Given the description of an element on the screen output the (x, y) to click on. 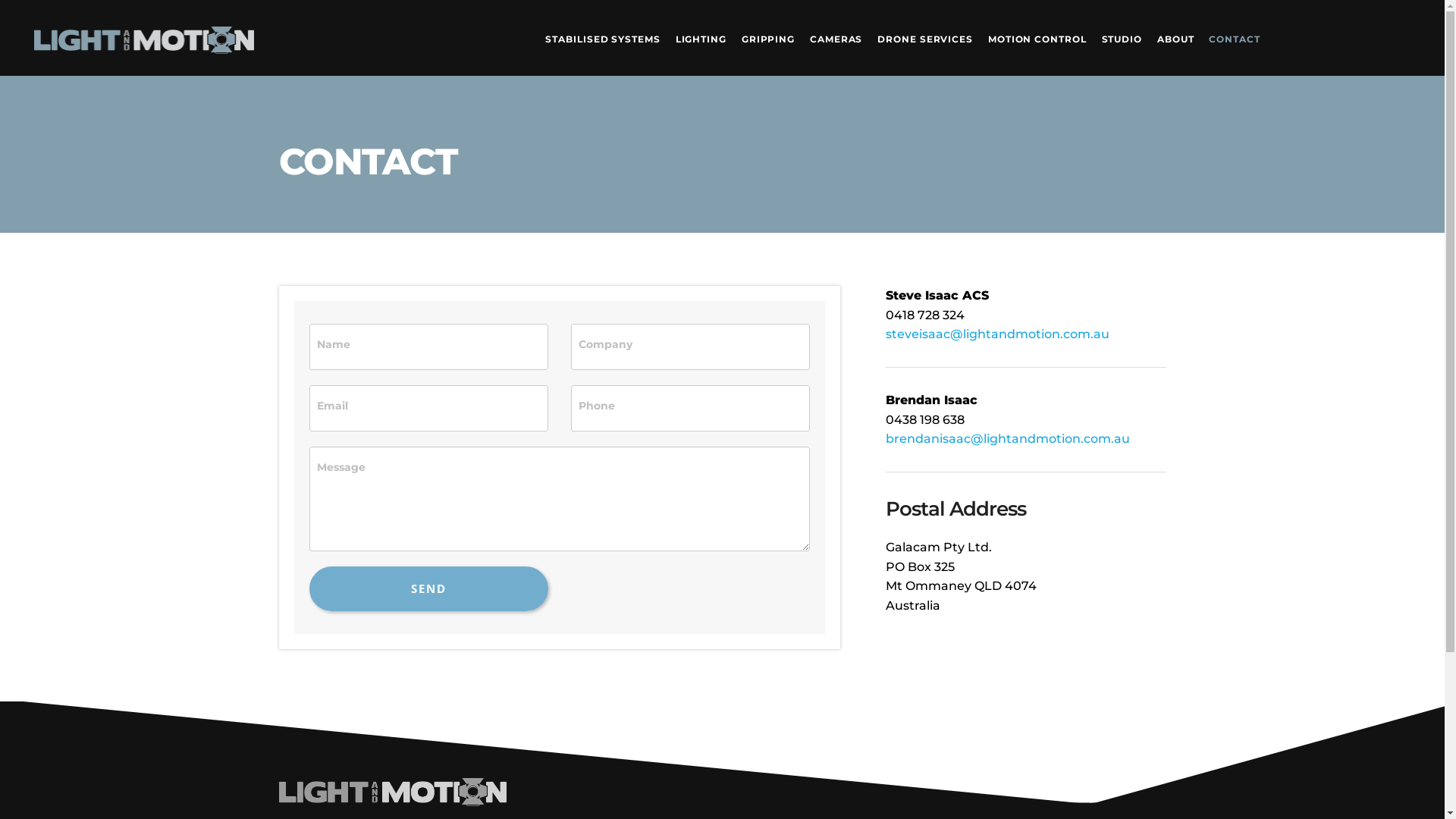
ABOUT Element type: text (1175, 37)
DRONE SERVICES Element type: text (924, 37)
brendanisaac@lightandmotion.com.au Element type: text (1007, 438)
GRIPPING Element type: text (768, 37)
STUDIO Element type: text (1121, 37)
CONTACT Element type: text (1230, 37)
SEND Element type: text (428, 588)
steveisaac@lightandmotion.com.au Element type: text (997, 333)
STABILISED SYSTEMS Element type: text (606, 37)
CAMERAS Element type: text (835, 37)
LIGHTING Element type: text (701, 37)
MOTION CONTROL Element type: text (1037, 37)
